Given the description of an element on the screen output the (x, y) to click on. 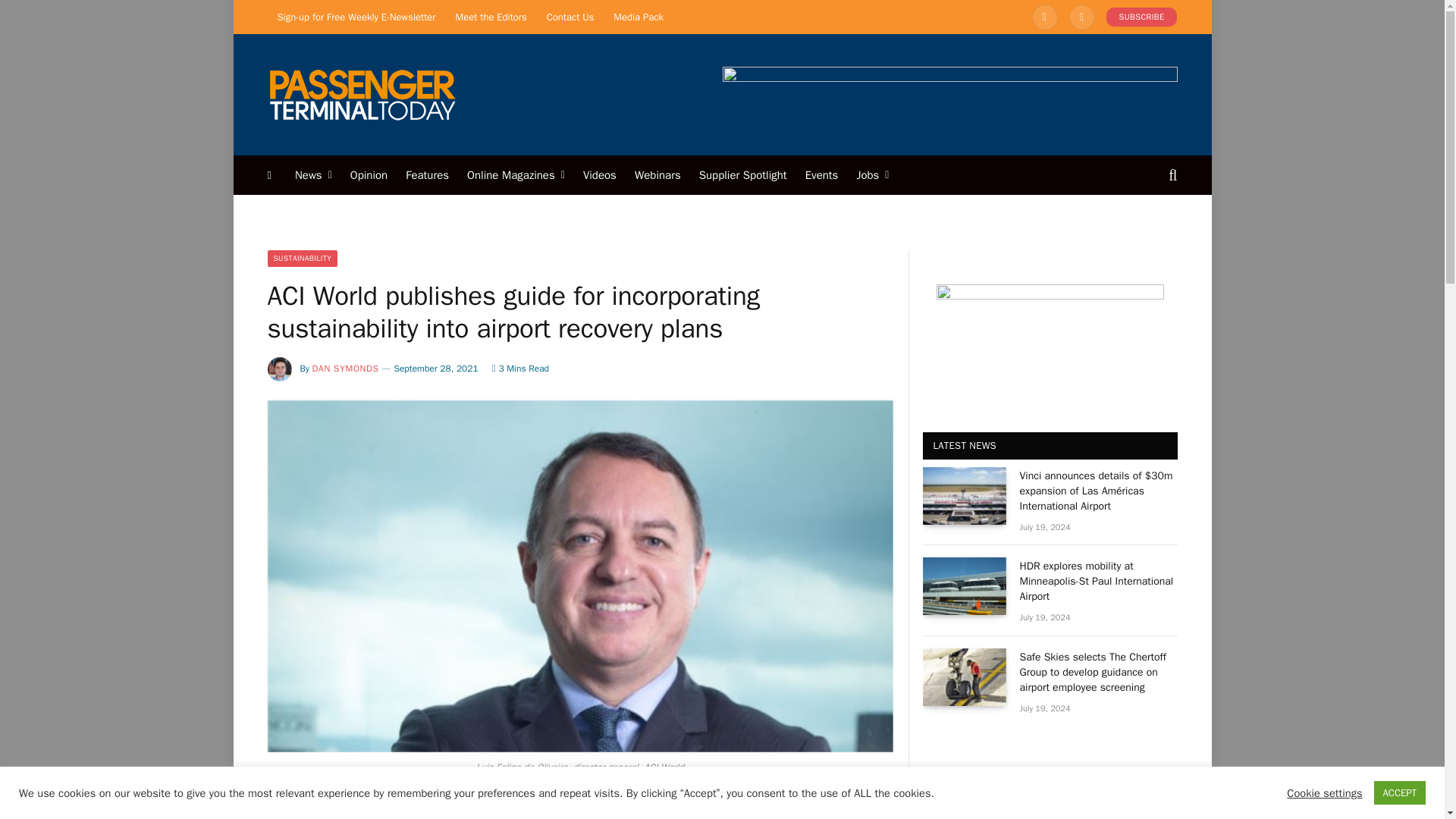
Passenger Terminal Today (361, 94)
Posts by Dan Symonds (345, 368)
